Given the description of an element on the screen output the (x, y) to click on. 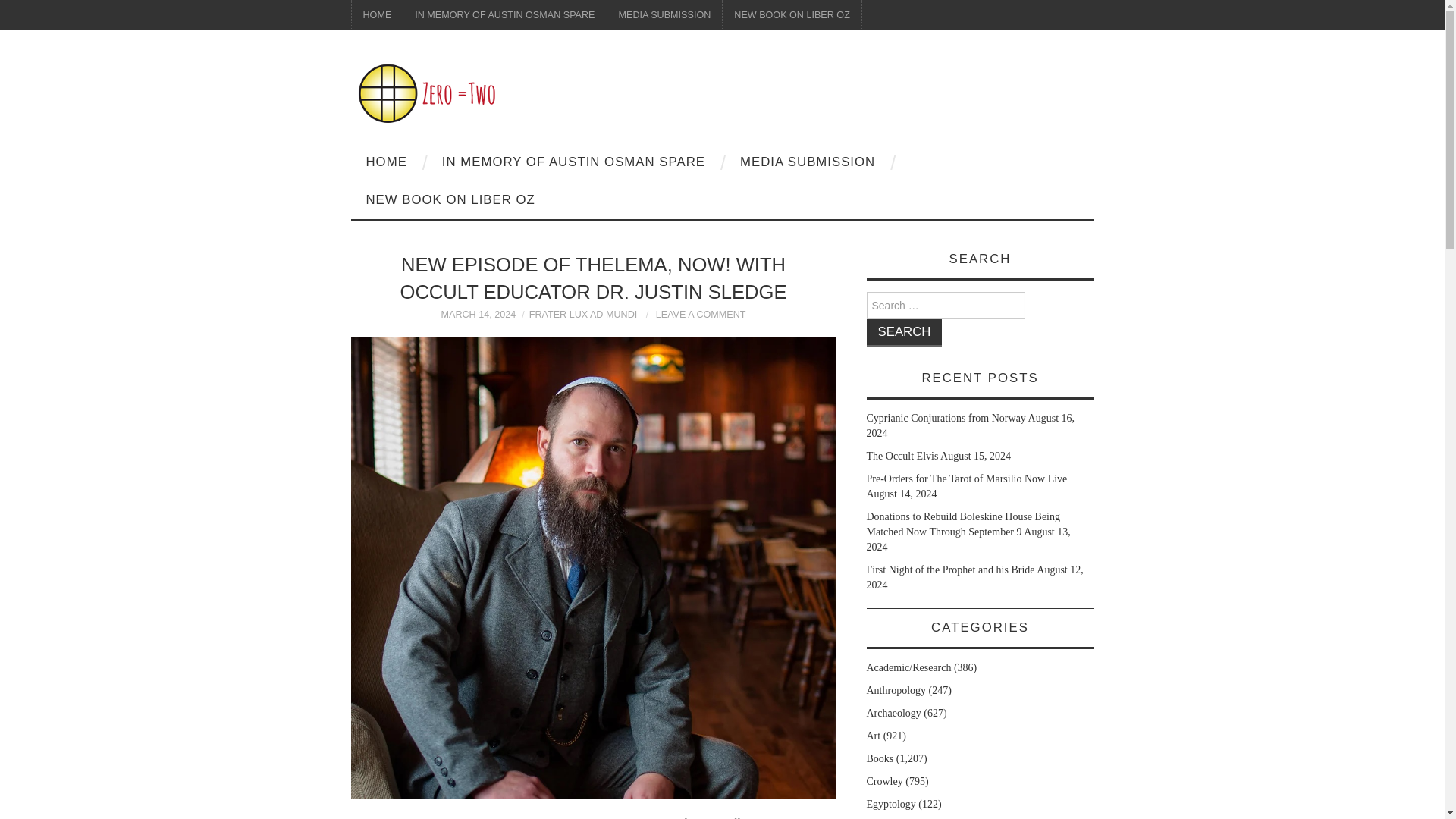
FRATER LUX AD MUNDI (583, 314)
HOME (377, 15)
Anthropology (896, 690)
Books (879, 758)
LEAVE A COMMENT (700, 314)
NEW BOOK ON LIBER OZ (791, 15)
Archaeology (893, 713)
Zero Equals Two! (426, 92)
Search (904, 333)
Search (904, 333)
